Given the description of an element on the screen output the (x, y) to click on. 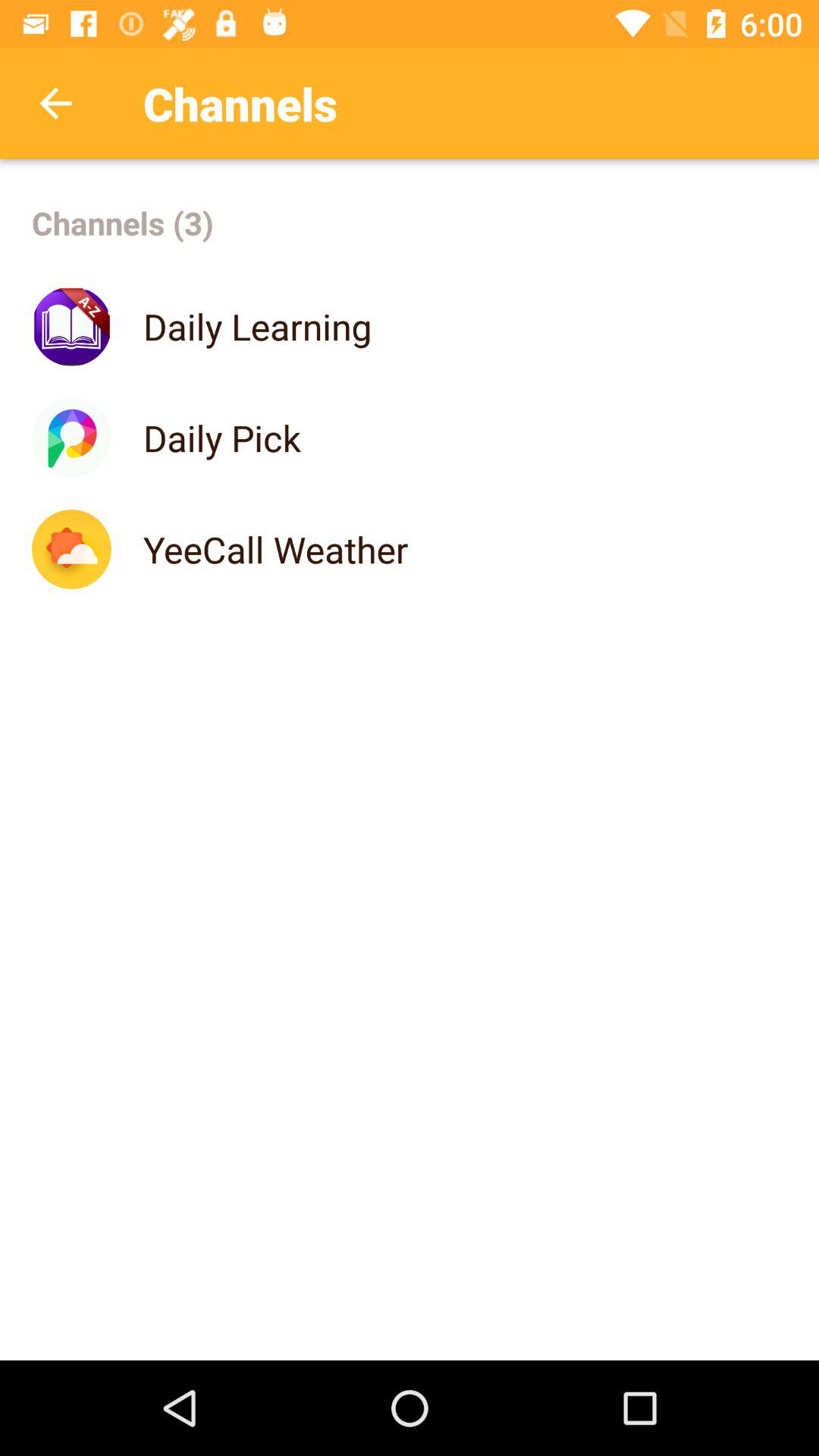
turn on the icon to the left of channels app (55, 103)
